Given the description of an element on the screen output the (x, y) to click on. 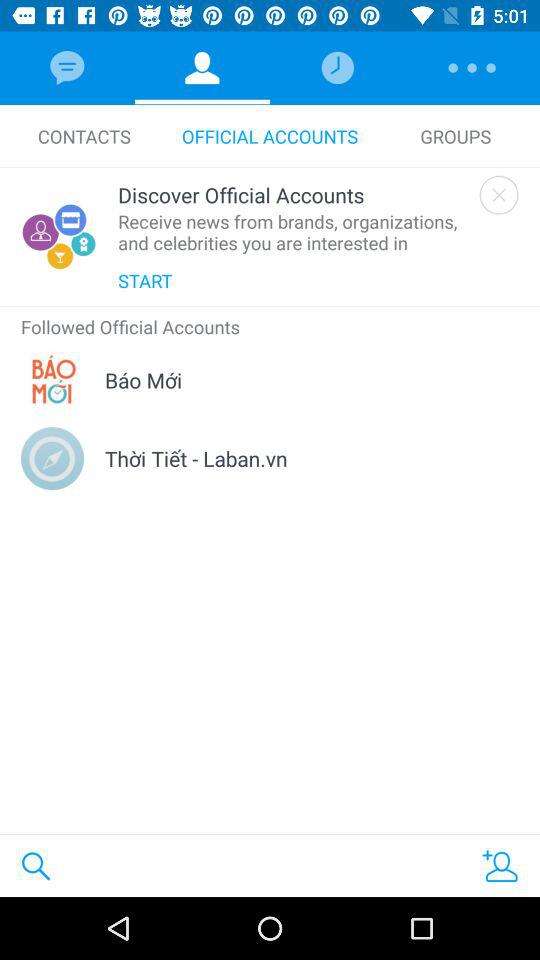
turn off contacts item (84, 136)
